Given the description of an element on the screen output the (x, y) to click on. 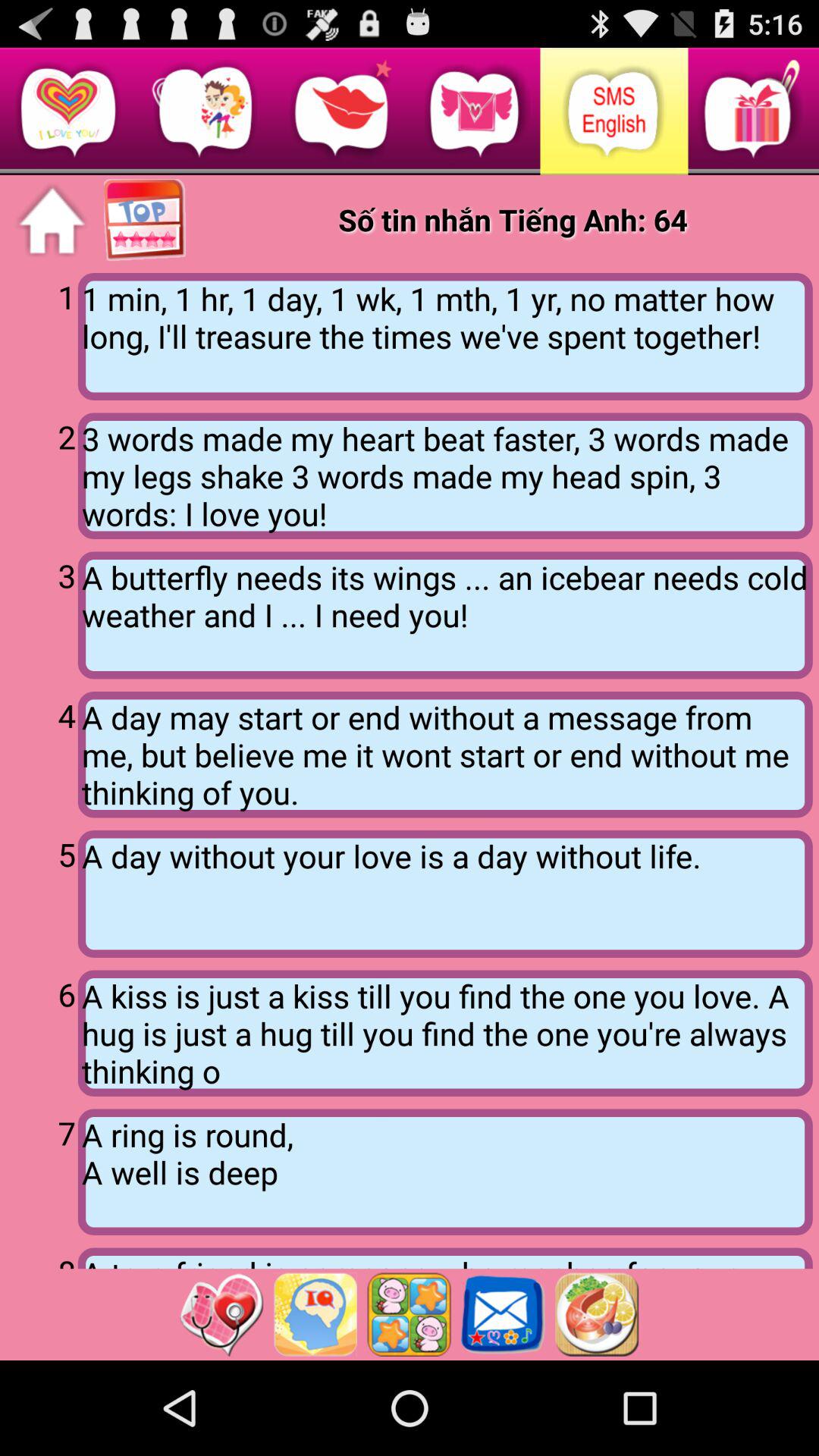
food dating (596, 1314)
